Given the description of an element on the screen output the (x, y) to click on. 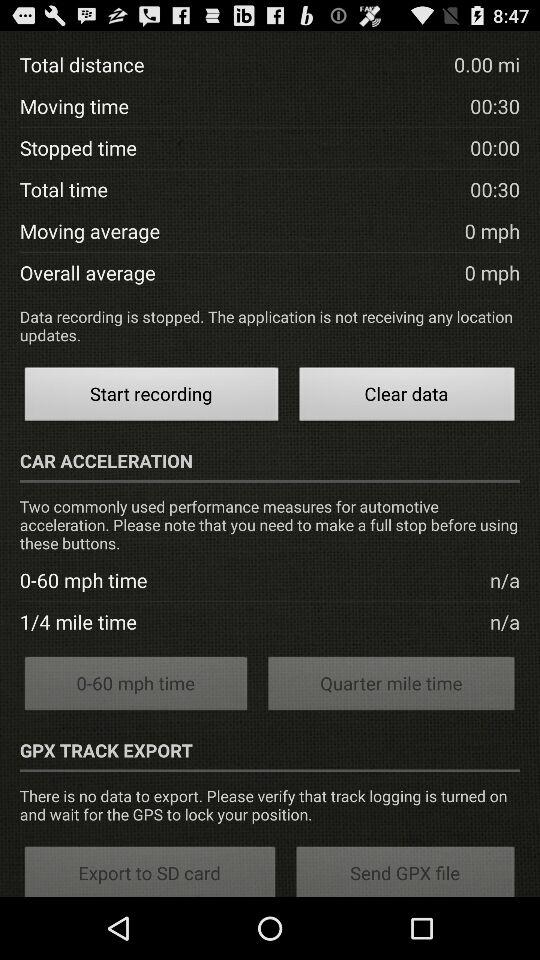
select send gpx file button (405, 870)
